Given the description of an element on the screen output the (x, y) to click on. 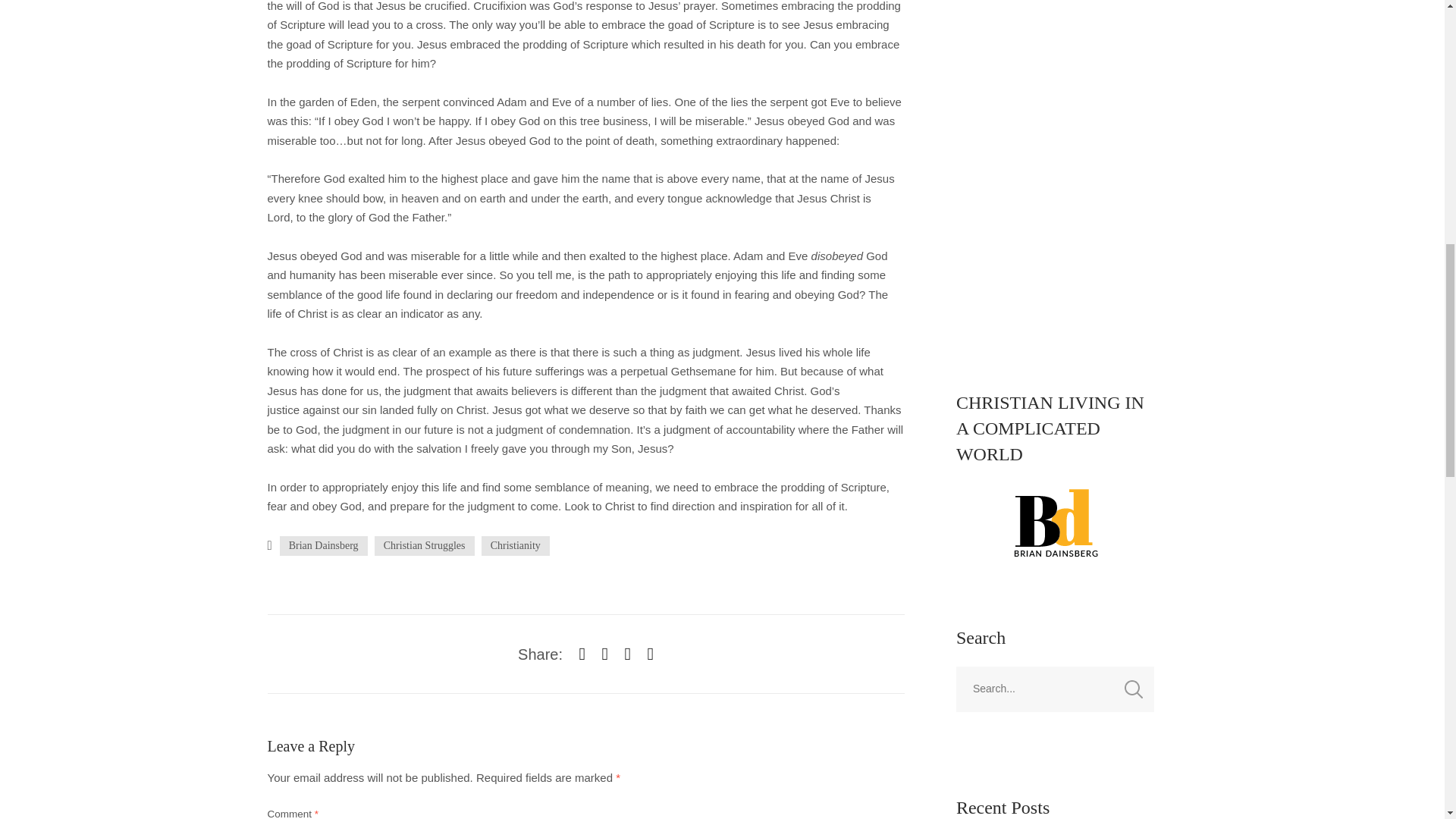
Christianity (515, 546)
Christian Struggles (424, 546)
Brian Dainsberg (323, 546)
